Given the description of an element on the screen output the (x, y) to click on. 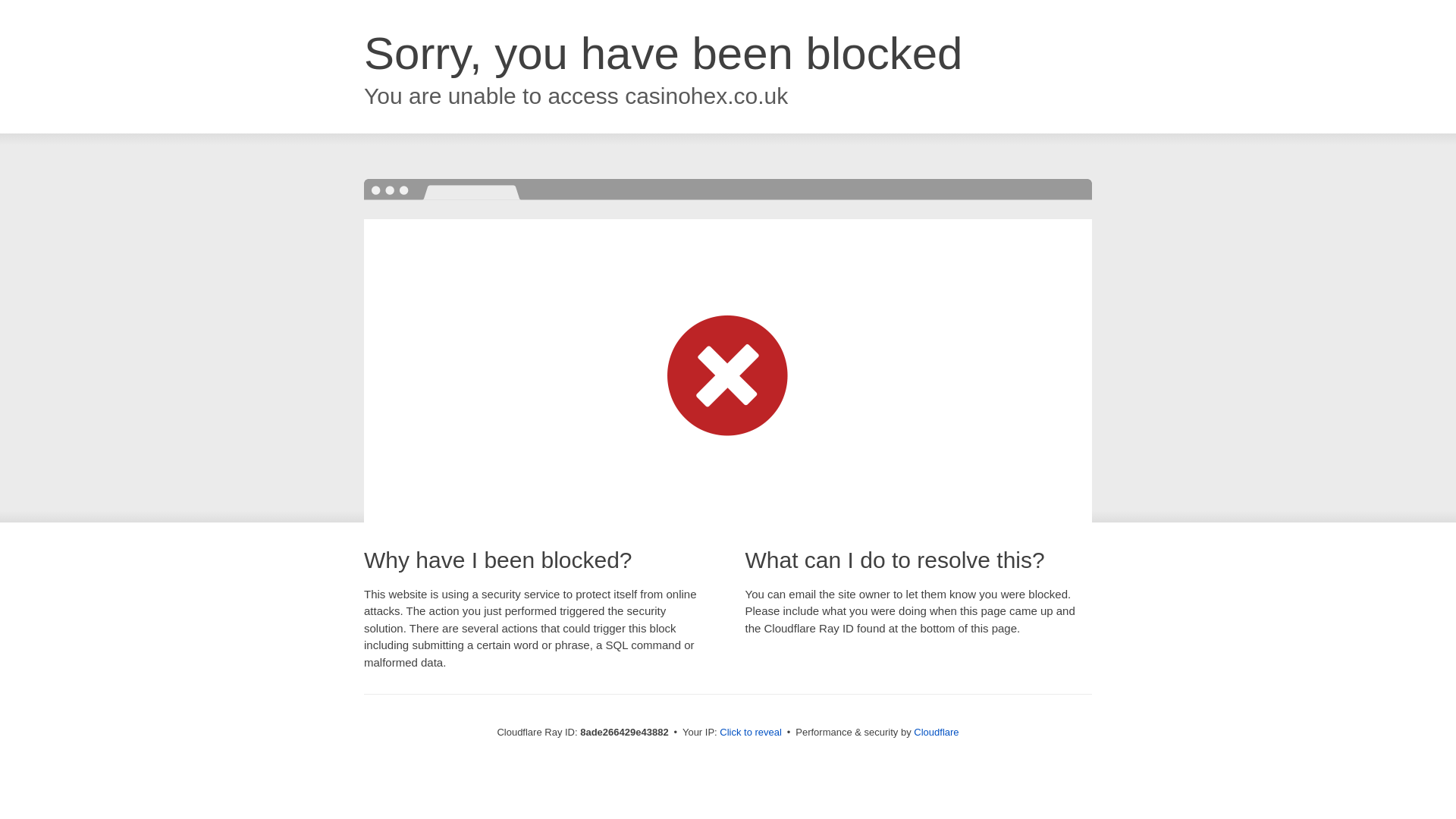
Click to reveal (750, 732)
Cloudflare (936, 731)
